Given the description of an element on the screen output the (x, y) to click on. 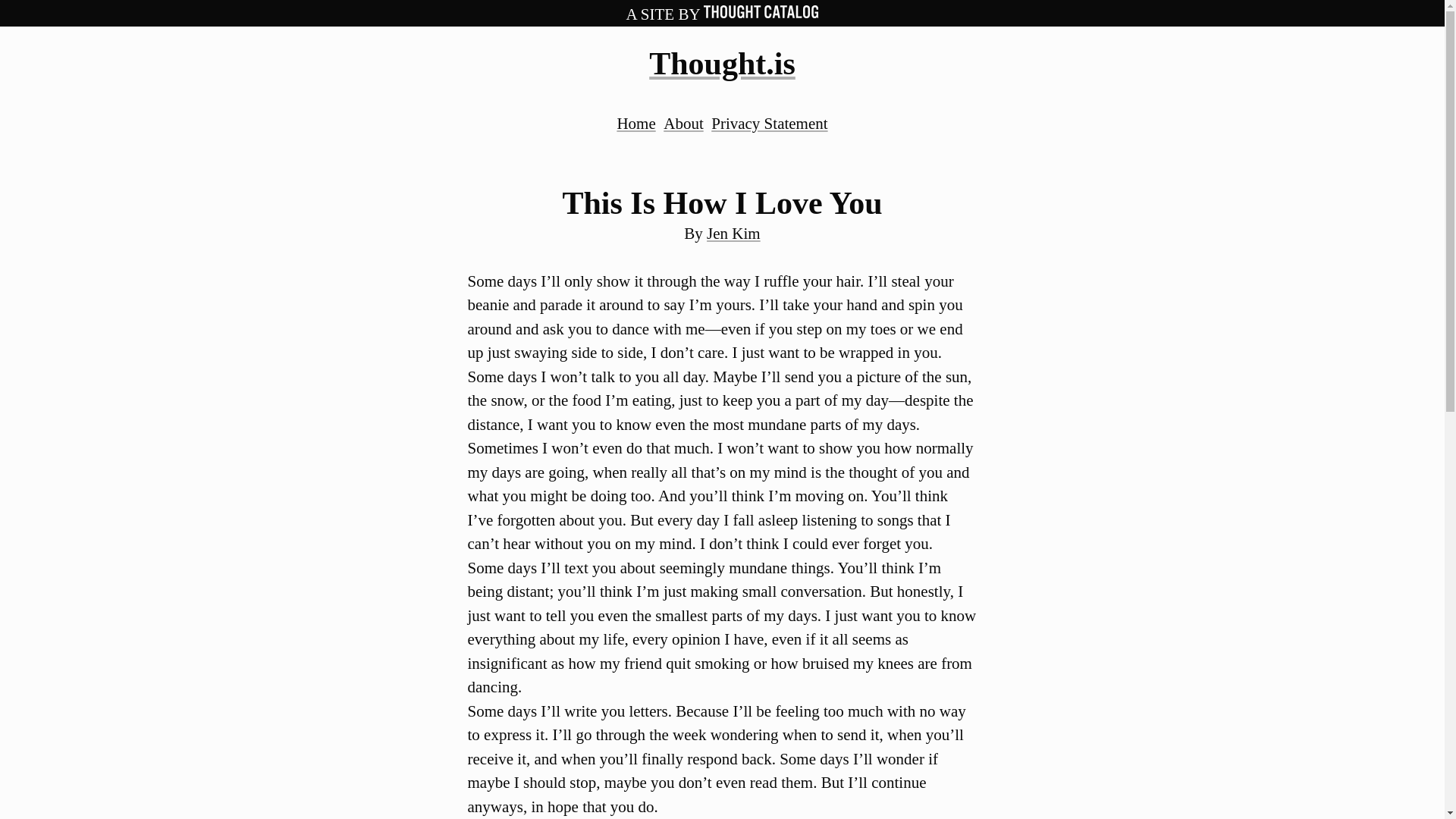
Privacy Statement (769, 123)
Posts by Jen Kim (733, 233)
Thought.is (721, 63)
THOUGHT CATALOG (760, 13)
Home (635, 123)
Jen Kim (733, 233)
THOUGHT CATALOG (760, 11)
About (683, 123)
